Given the description of an element on the screen output the (x, y) to click on. 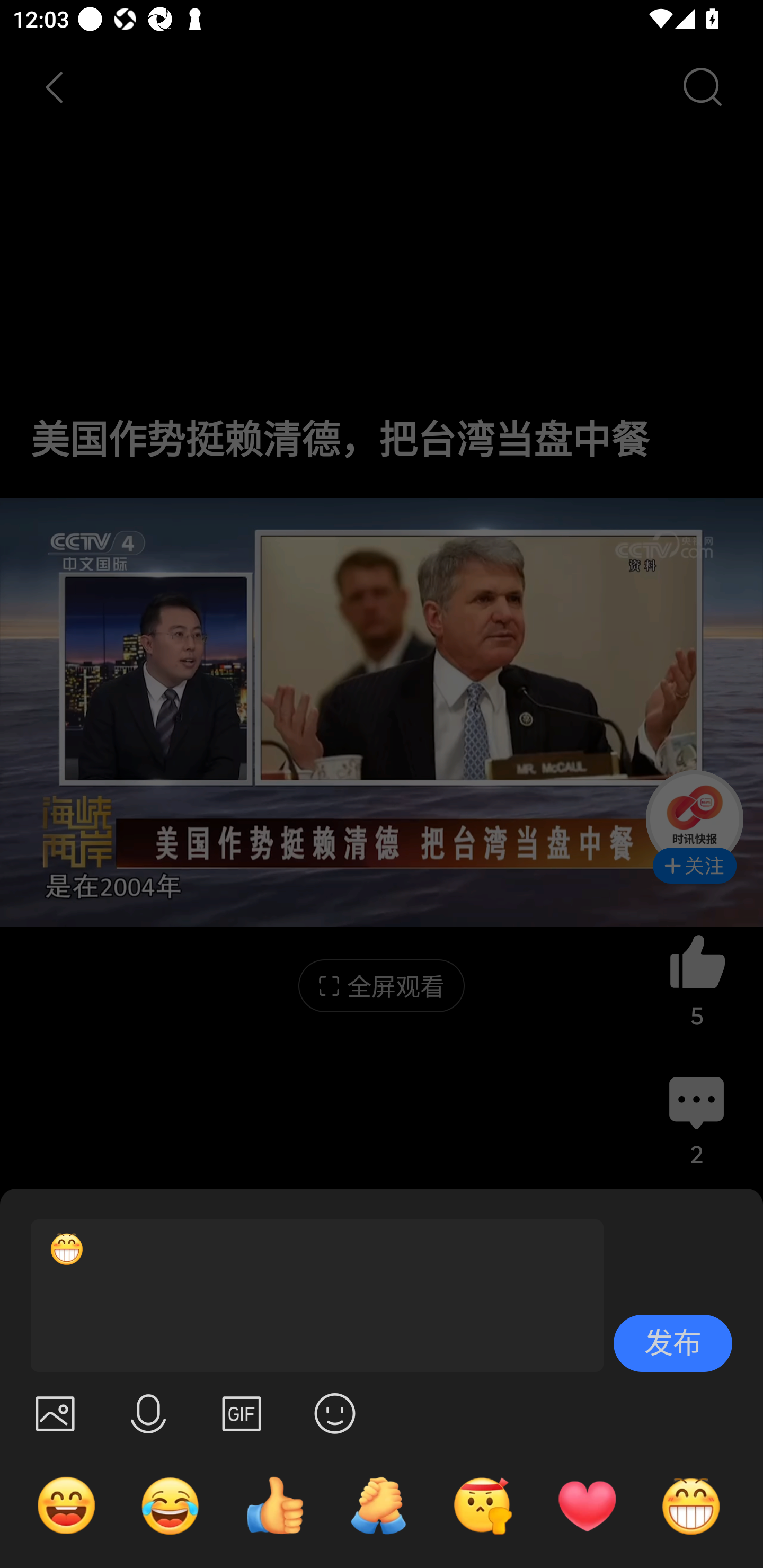
[呲牙] (308, 1295)
发布 (672, 1343)
 (54, 1413)
 (148, 1413)
 (241, 1413)
 (334, 1413)
哈哈 (66, 1505)
哭笑 (170, 1505)
点赞 (274, 1505)
加油 (378, 1505)
奋斗 (482, 1505)
心 (586, 1505)
呲牙 (690, 1505)
